Given the description of an element on the screen output the (x, y) to click on. 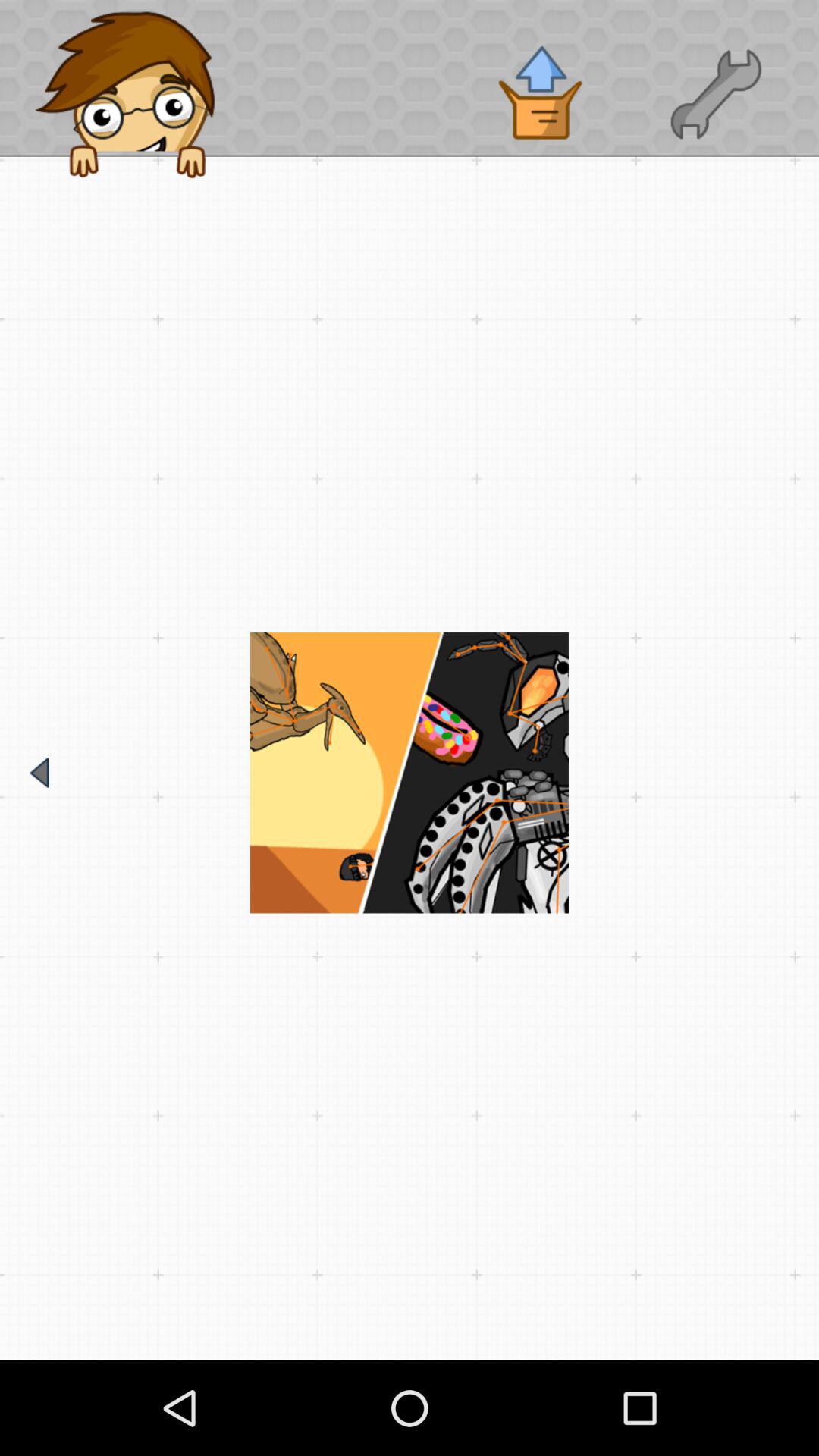
go to previous option (39, 772)
